Given the description of an element on the screen output the (x, y) to click on. 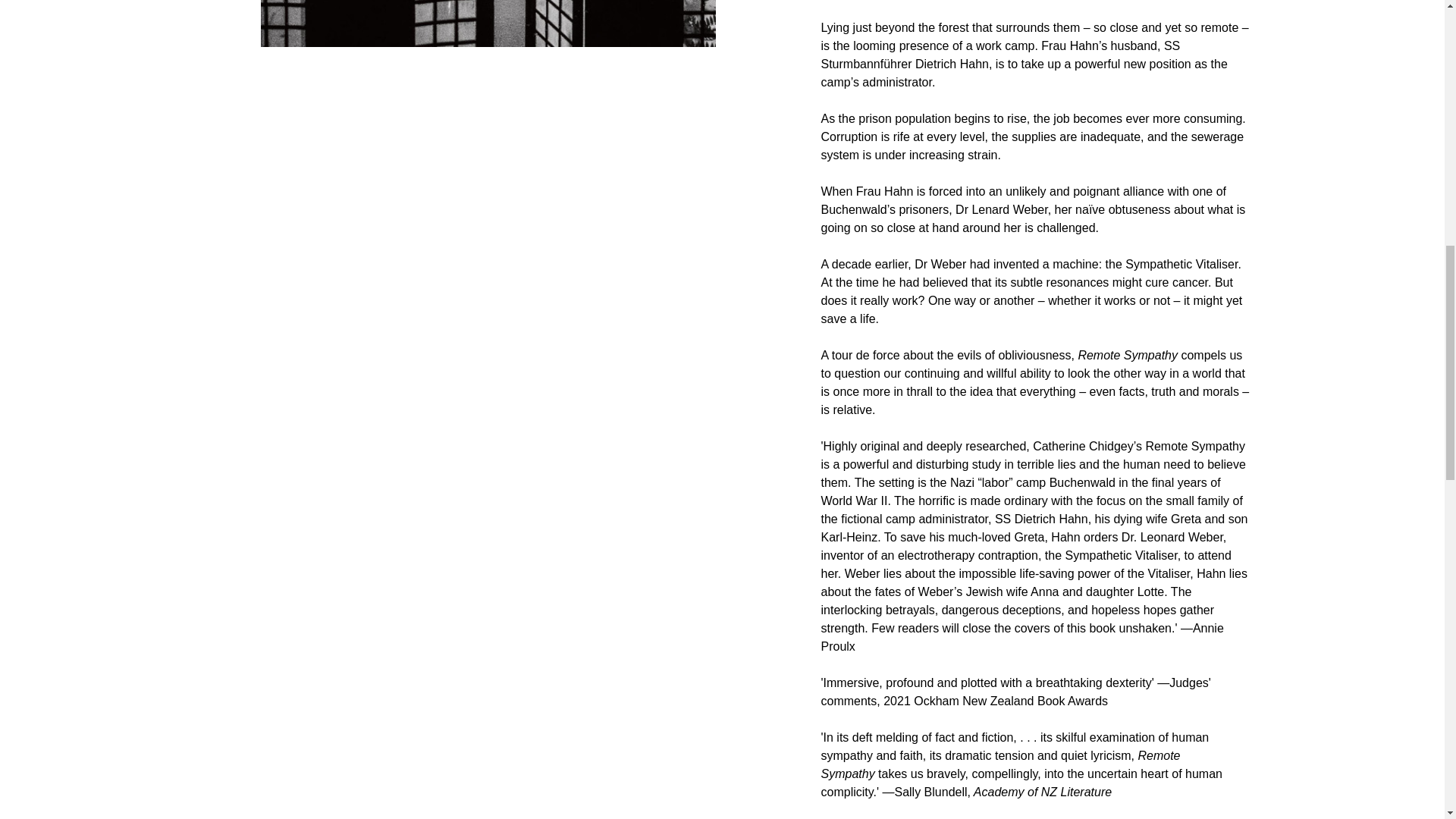
Remote Sympathy (488, 23)
